Given the description of an element on the screen output the (x, y) to click on. 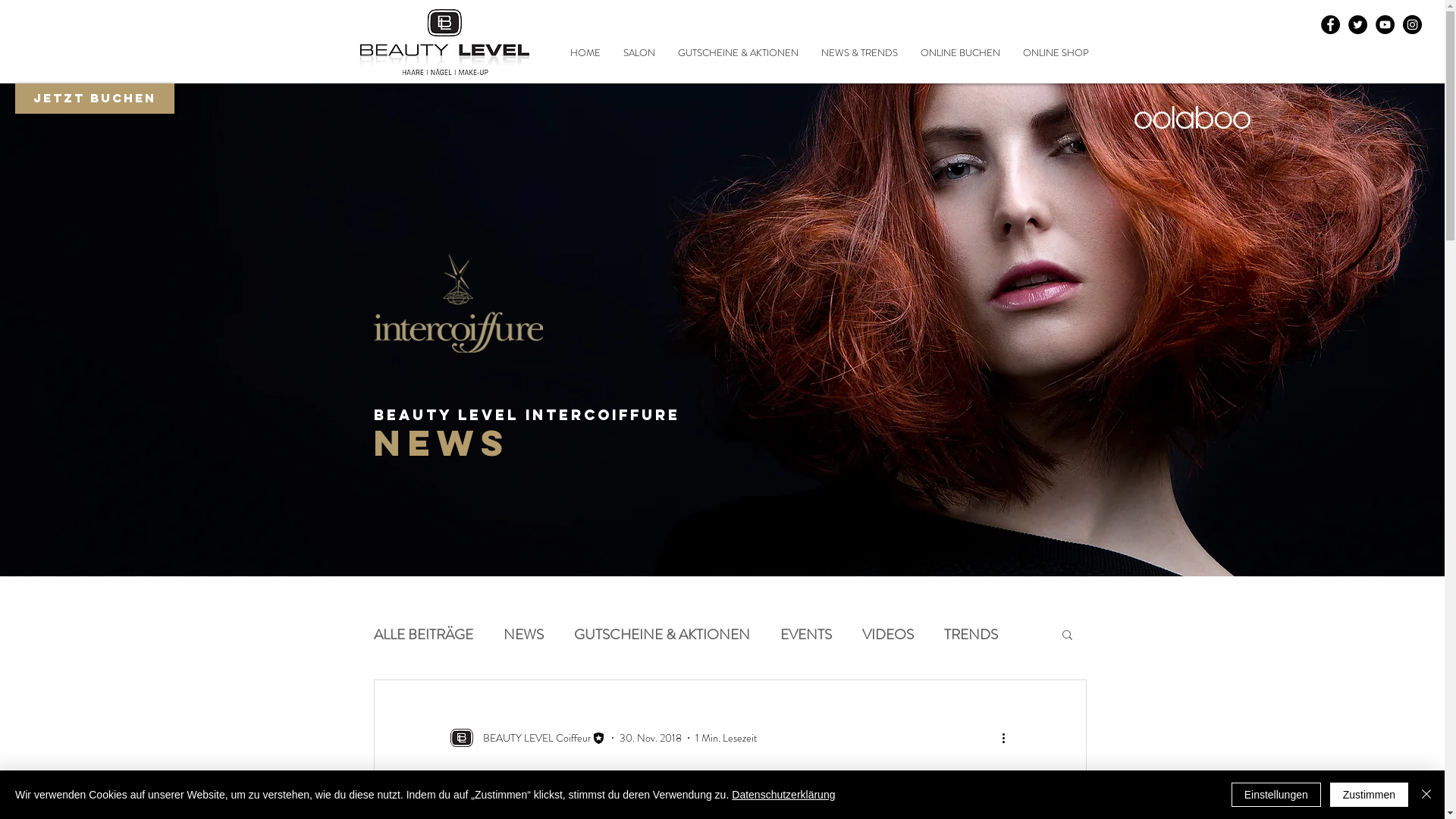
Zustimmen Element type: text (1369, 794)
TRENDS Element type: text (970, 633)
NEWS Element type: text (523, 633)
NEWS & TRENDS Element type: text (859, 52)
HOME Element type: text (584, 52)
BEAUTY LEVEL Coiffeur Element type: text (526, 737)
SALON Element type: text (638, 52)
GUTSCHEINE & AKTIONEN Element type: text (661, 633)
GUTSCHEINE & AKTIONEN Element type: text (737, 52)
VIDEOS Element type: text (887, 633)
EVENTS Element type: text (805, 633)
Jetzt buchen Element type: text (94, 98)
Einstellungen Element type: text (1276, 794)
ONLINE BUCHEN Element type: text (959, 52)
ONLINE SHOP Element type: text (1055, 52)
